Given the description of an element on the screen output the (x, y) to click on. 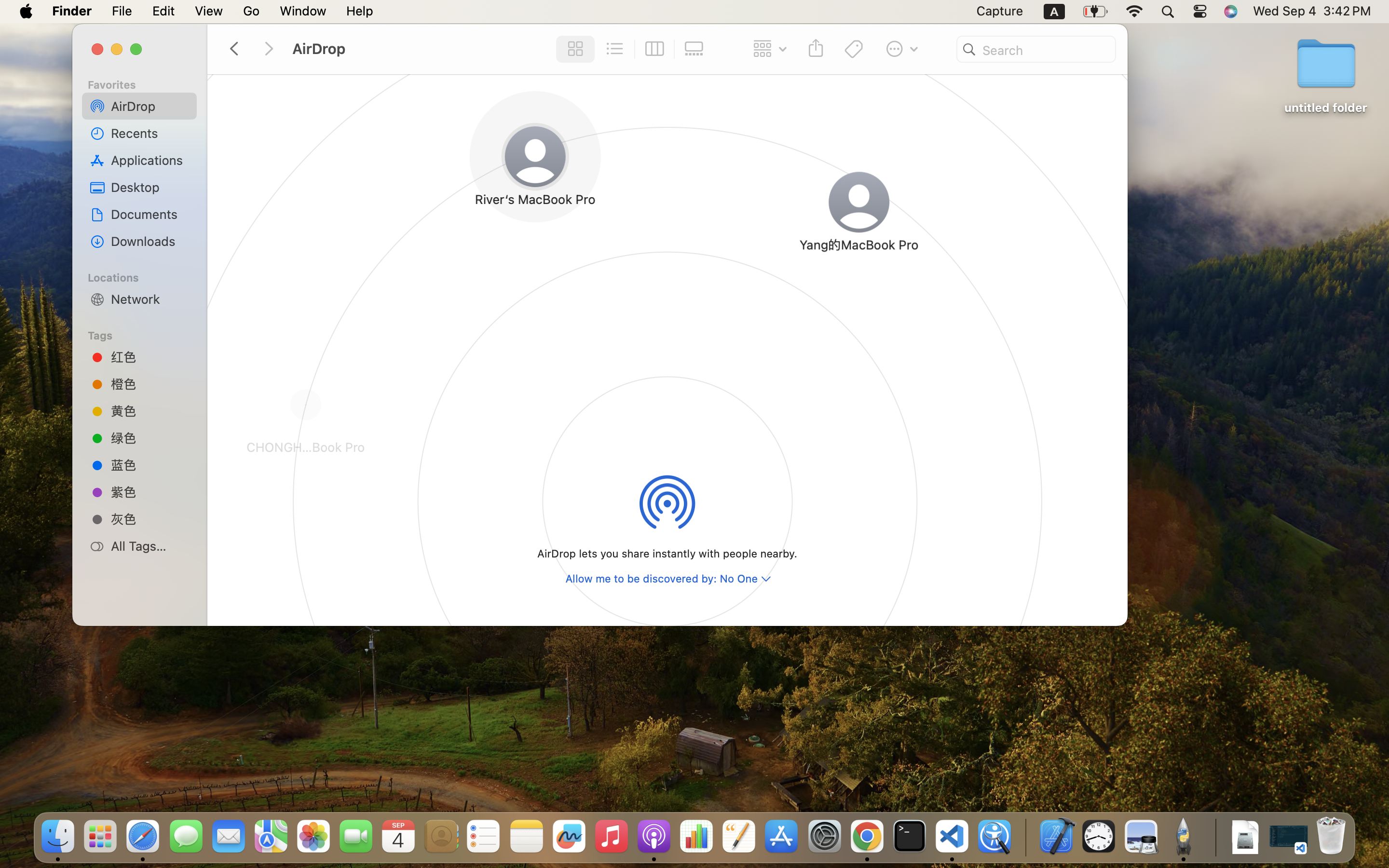
Network Element type: AXStaticText (149, 298)
红色 Element type: AXStaticText (149, 356)
Downloads Element type: AXStaticText (149, 240)
蓝色 Element type: AXStaticText (149, 464)
All Tags… Element type: AXStaticText (149, 545)
